Given the description of an element on the screen output the (x, y) to click on. 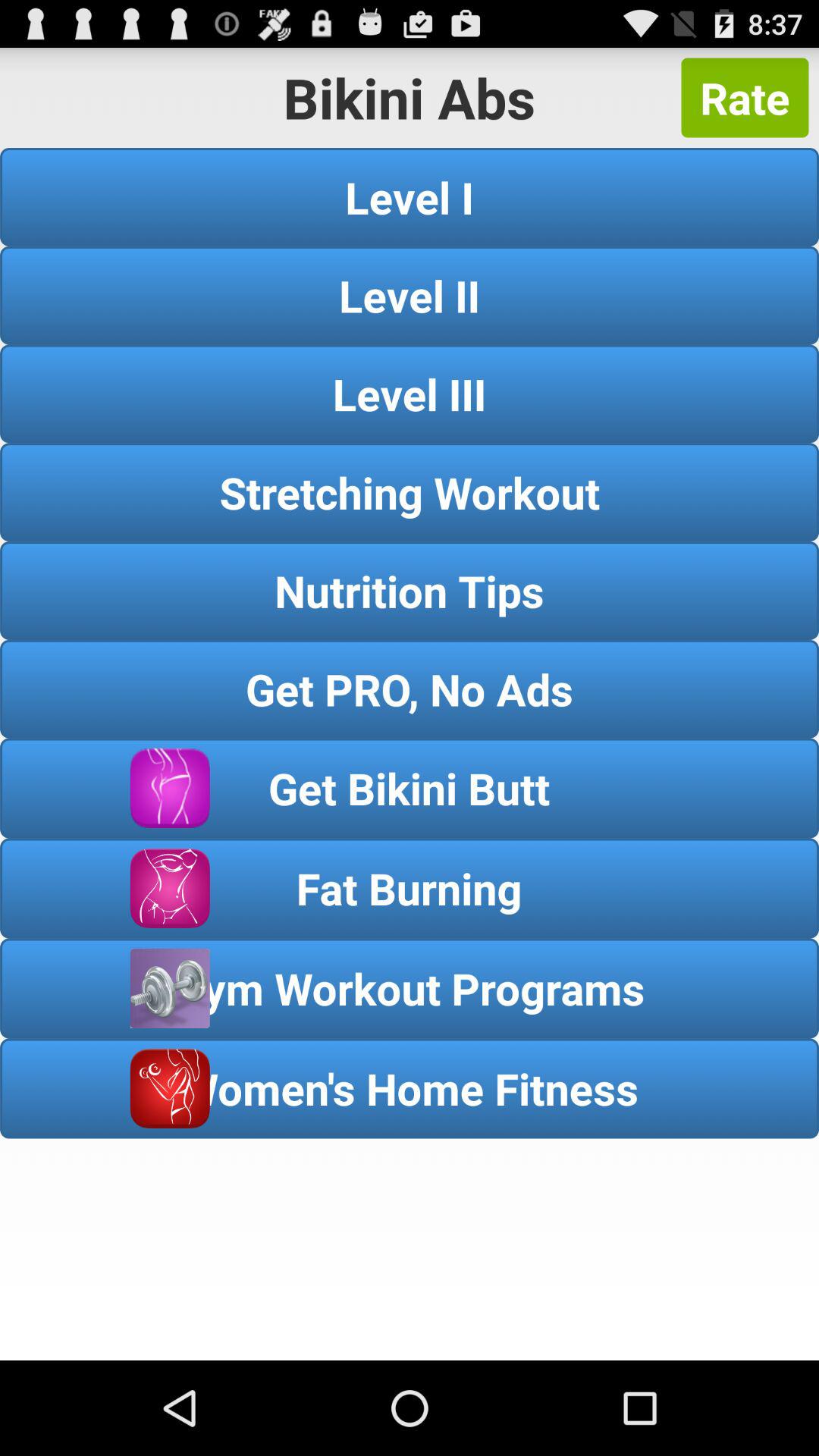
scroll to level iii button (409, 393)
